Given the description of an element on the screen output the (x, y) to click on. 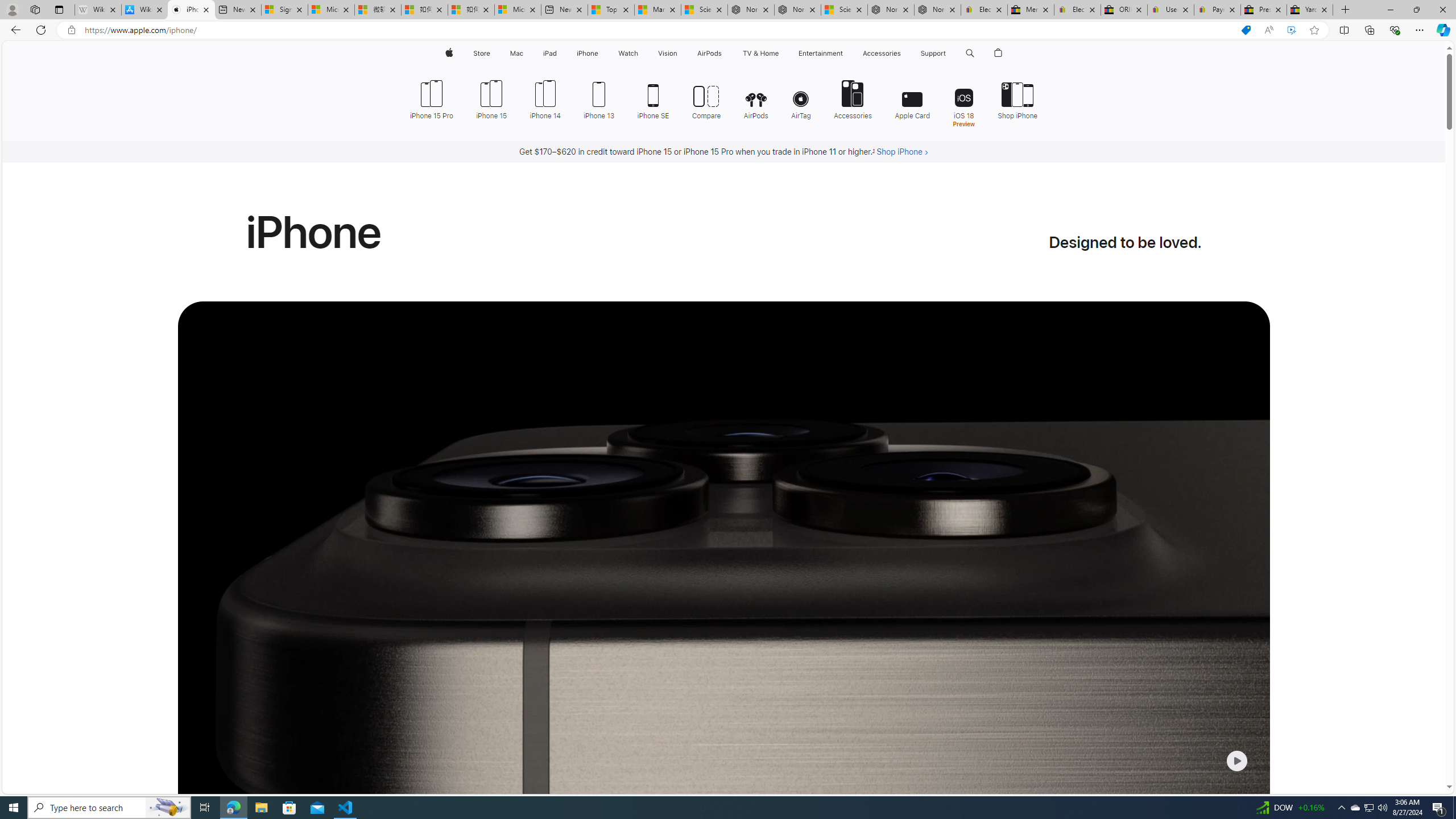
Enhance video (1291, 29)
Play welcome animation video (1236, 761)
Marine life - MSN (656, 9)
iPad menu (557, 53)
Mac (516, 53)
